Given the description of an element on the screen output the (x, y) to click on. 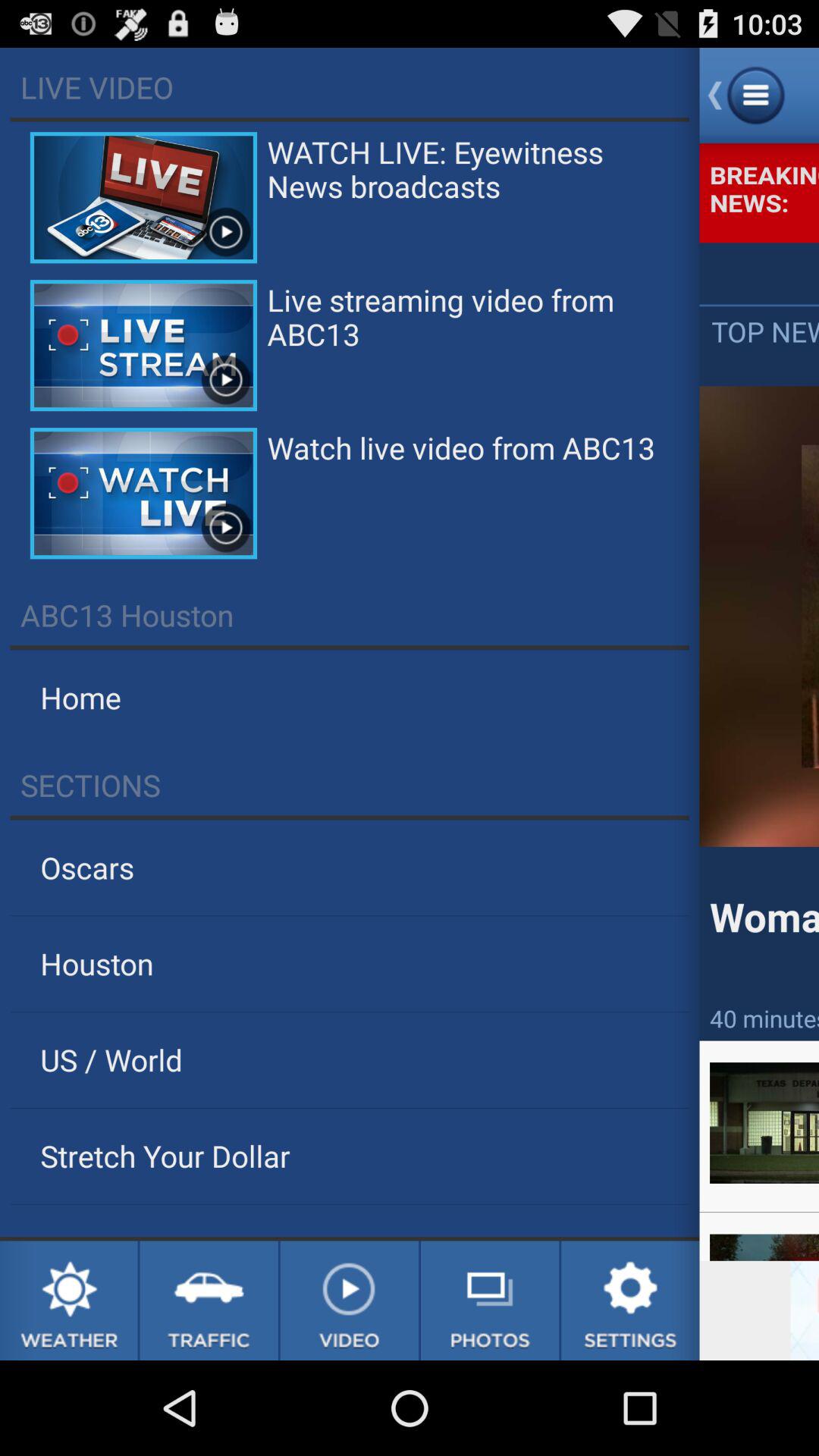
select video (349, 1300)
